Given the description of an element on the screen output the (x, y) to click on. 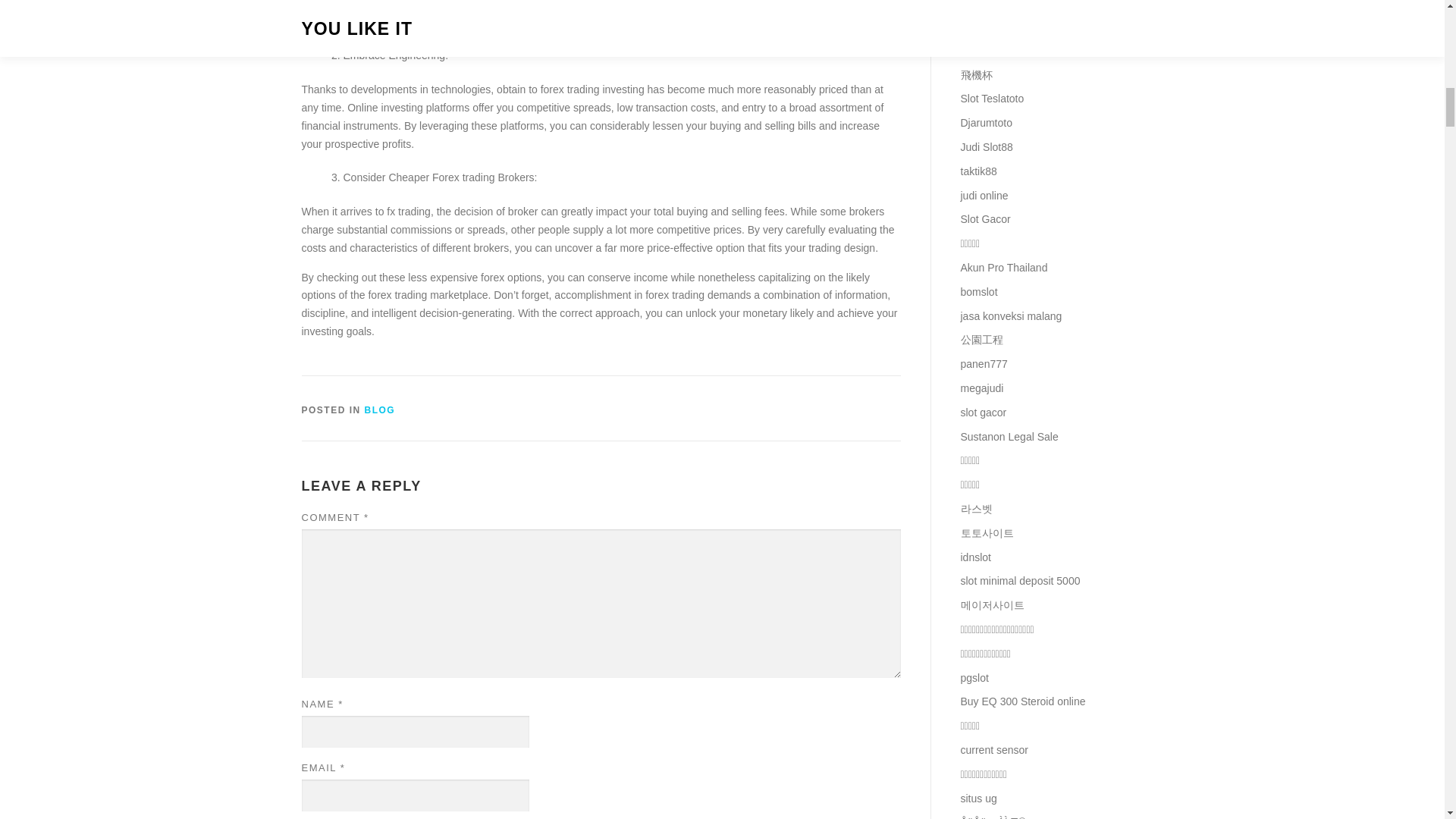
BLOG (380, 409)
